Given the description of an element on the screen output the (x, y) to click on. 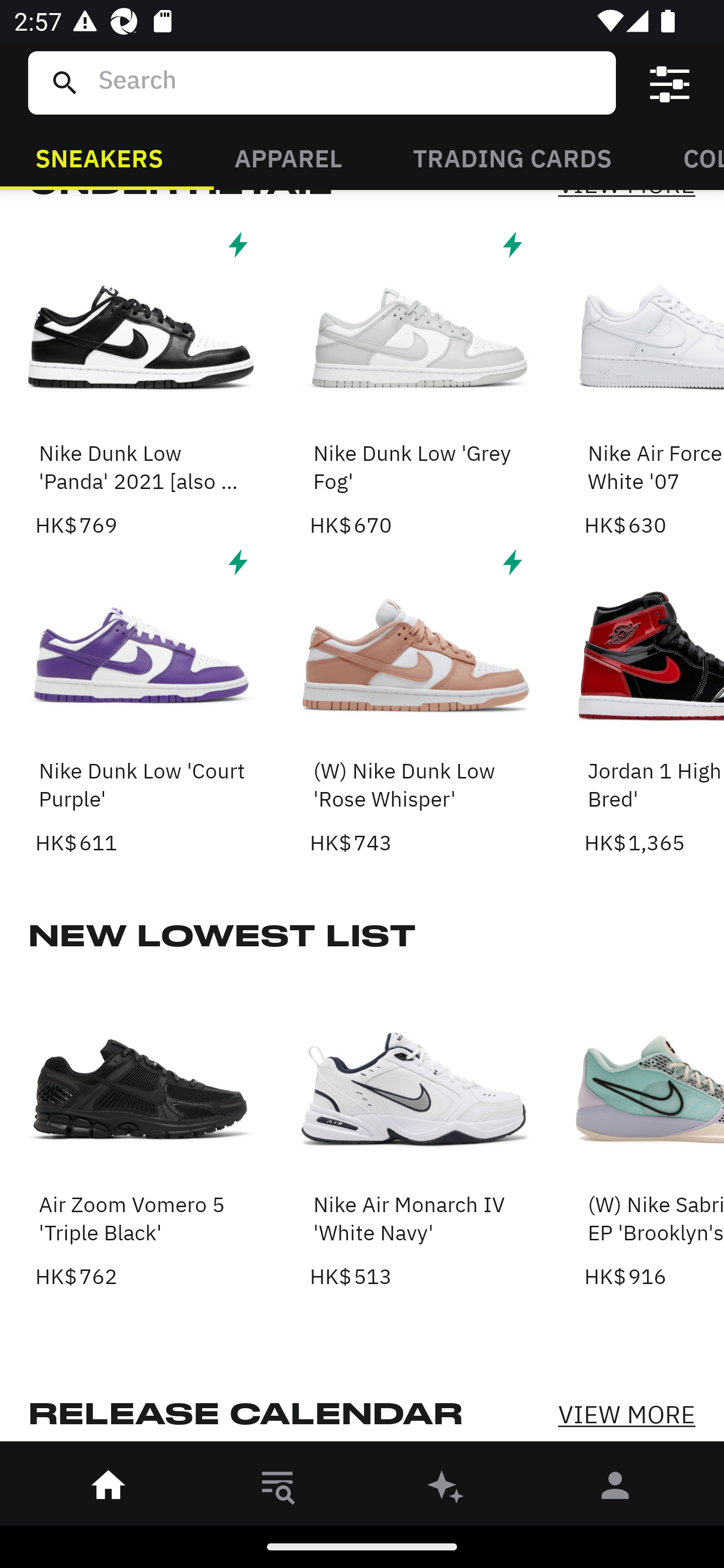
Search (349, 82)
 (669, 82)
SNEAKERS (99, 156)
APPAREL (287, 156)
TRADING CARDS (512, 156)
 Nike Dunk Low 'Grey Fog' HK$ 670 (414, 383)
Nike Air Force 1 Low White '07 HK$ 630 (654, 383)
 Nike Dunk Low 'Court Purple' HK$ 611 (140, 700)
 (W) Nike Dunk Low 'Rose Whisper' HK$ 743 (414, 700)
Jordan 1 High 'Patent Bred' HK$ 1,365 (654, 700)
Air Zoom Vomero 5 'Triple Black' HK$ 762 (140, 1134)
Nike Air Monarch IV 'White Navy' HK$ 513 (414, 1134)
(W) Nike Sabrina 1 EP 'Brooklyn's Finest' HK$ 916 (654, 1134)
VIEW MORE (626, 1414)
󰋜 (108, 1488)
󱎸 (277, 1488)
󰫢 (446, 1488)
󰀄 (615, 1488)
